Given the description of an element on the screen output the (x, y) to click on. 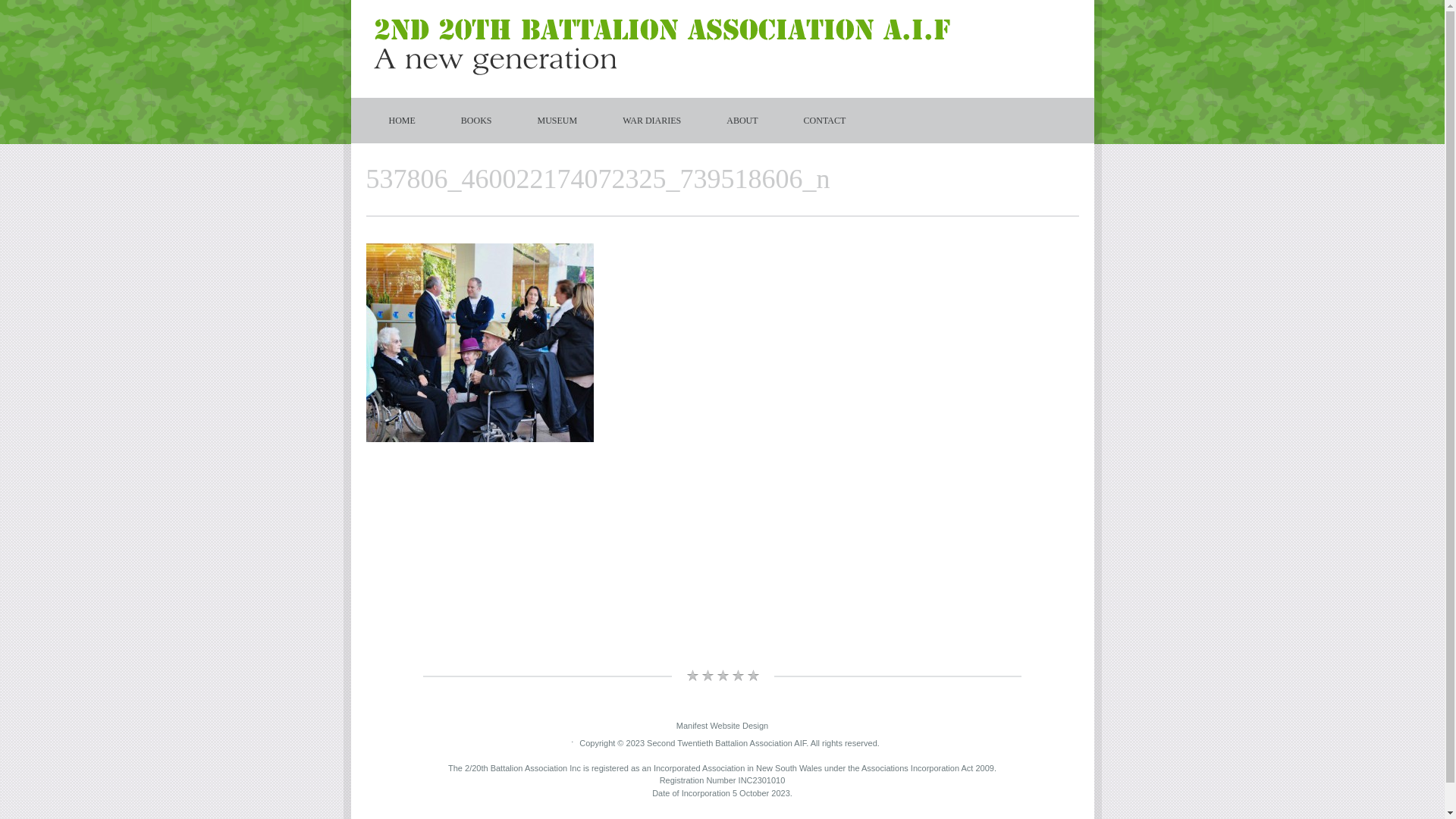
CONTACT Element type: text (825, 120)
Logo Element type: hover (661, 46)
BOOKS Element type: text (476, 120)
ABOUT Element type: text (741, 120)
MUSEUM Element type: text (557, 120)
537806_460022174072325_739518606_n Element type: hover (479, 438)
Manifest Website Design Element type: text (722, 725)
WAR DIARIES Element type: text (651, 120)
HOME Element type: text (401, 120)
